Given the description of an element on the screen output the (x, y) to click on. 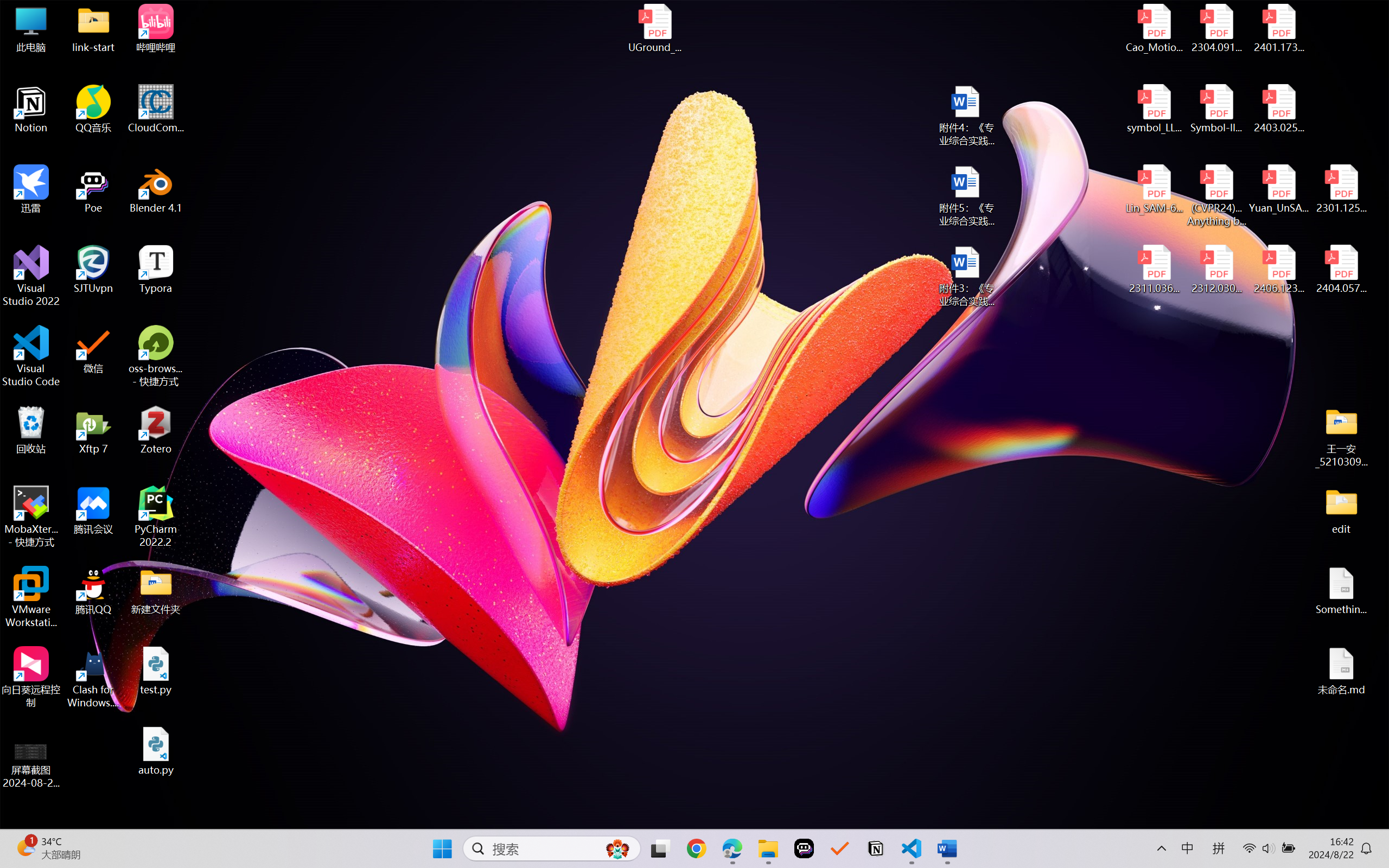
2404.05719v1.pdf (1340, 269)
PyCharm 2022.2 (156, 516)
symbol_LLM.pdf (1154, 109)
Something.md (1340, 591)
Visual Studio Code (31, 355)
CloudCompare (156, 109)
2406.12373v2.pdf (1278, 269)
Xftp 7 (93, 430)
2403.02502v1.pdf (1278, 109)
(CVPR24)Matching Anything by Segmenting Anything.pdf (1216, 195)
